Given the description of an element on the screen output the (x, y) to click on. 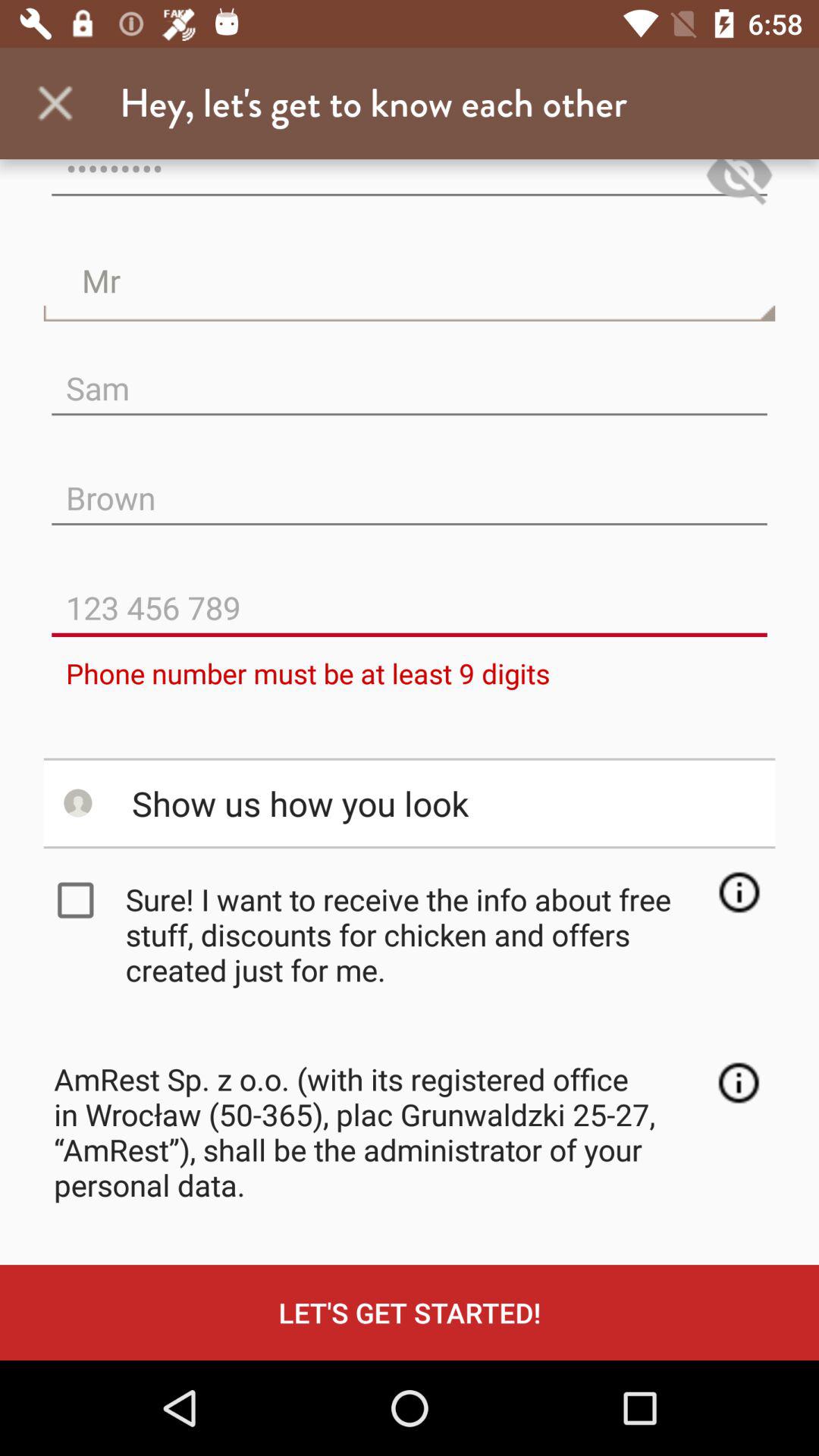
turn on the app next to hey let s item (55, 103)
